Given the description of an element on the screen output the (x, y) to click on. 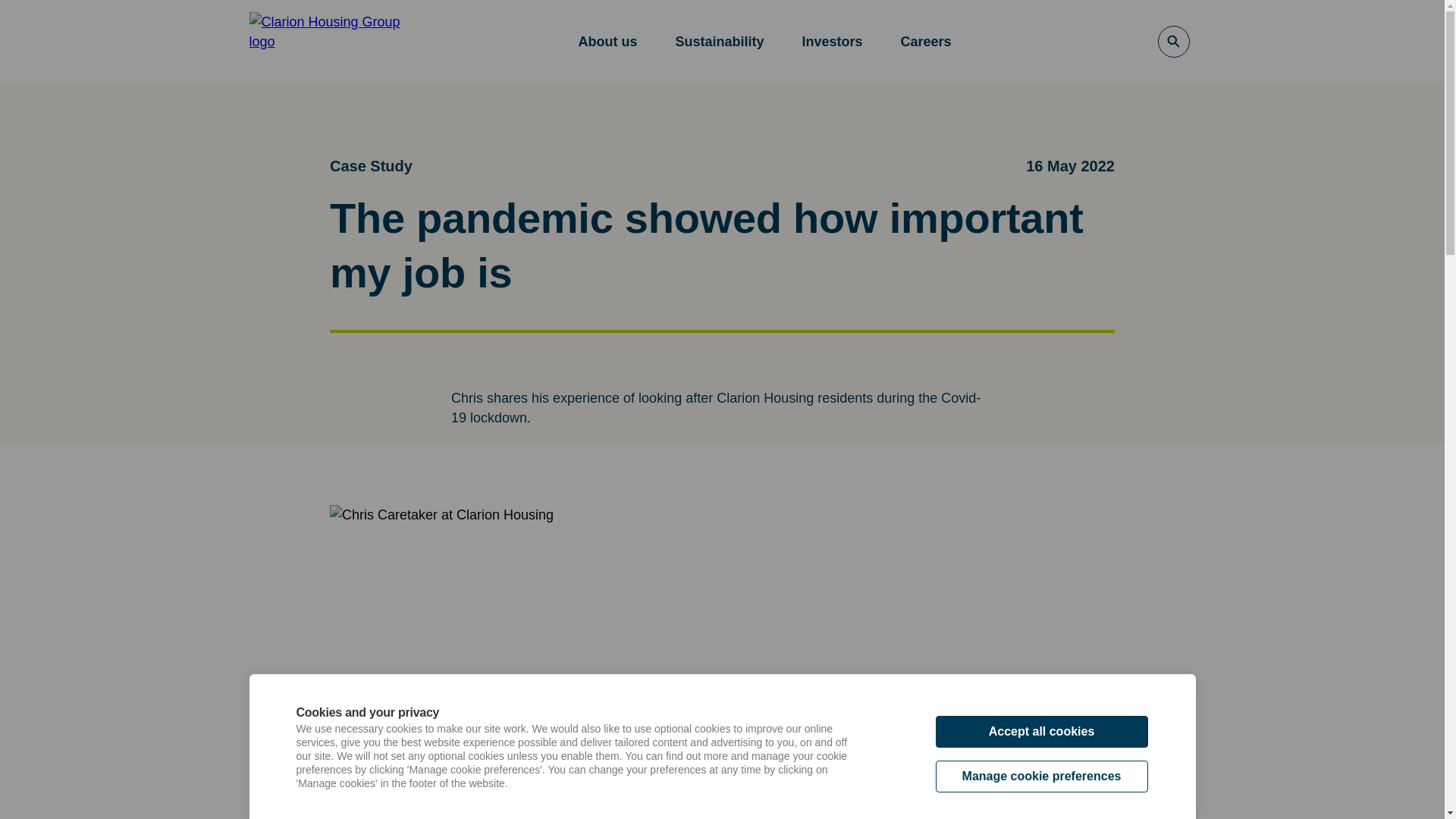
Clarion Housing Group (331, 41)
Sustainability (718, 40)
OpenSearch (1173, 41)
About us (607, 40)
Careers (926, 40)
Investors (831, 40)
